Given the description of an element on the screen output the (x, y) to click on. 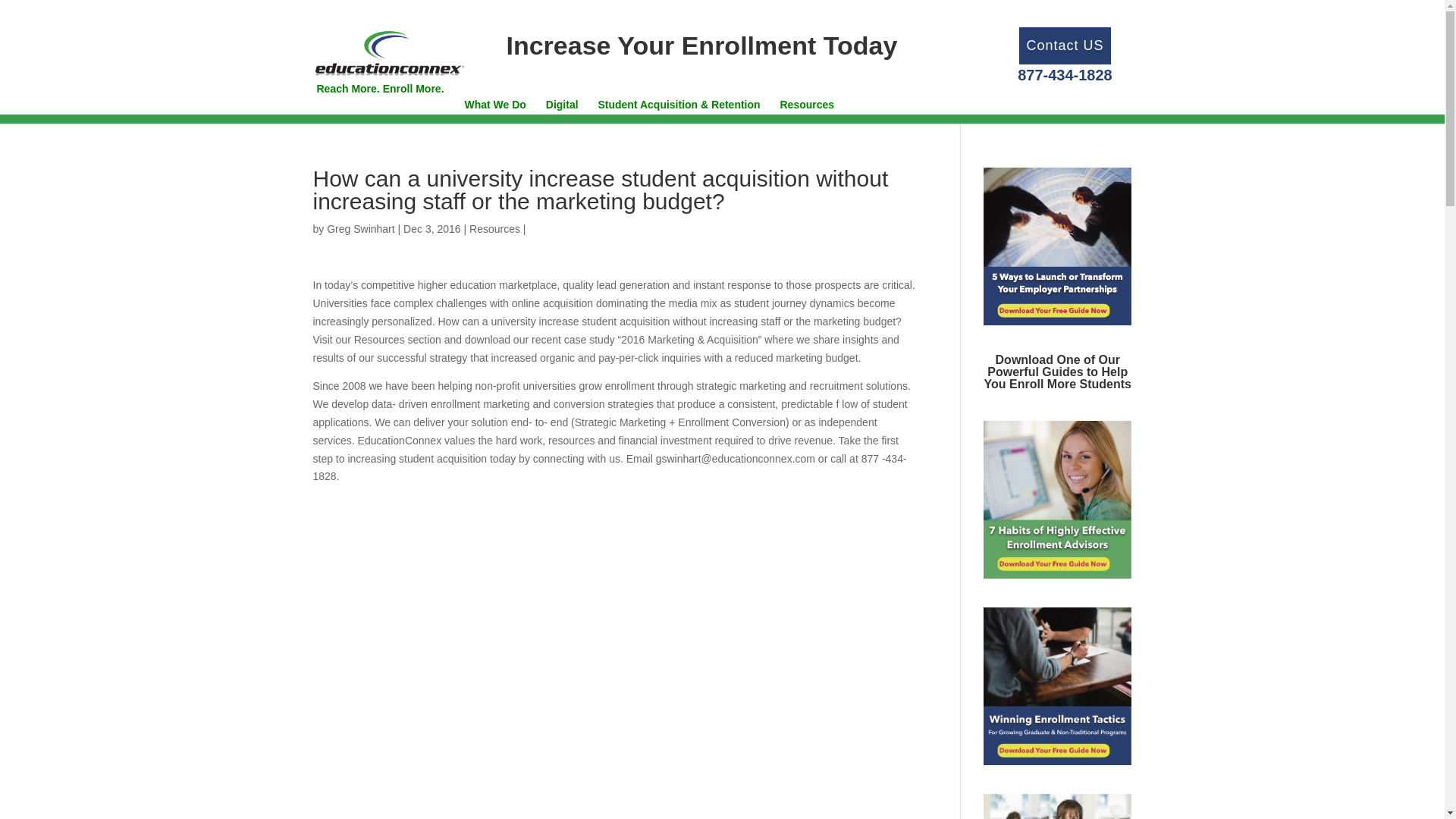
Resources (806, 117)
Resources (493, 228)
Digital (562, 117)
What We Do (494, 117)
Posts by Greg Swinhart (360, 228)
Contact US (1064, 45)
Contact US (1064, 46)
Greg Swinhart (360, 228)
